Given the description of an element on the screen output the (x, y) to click on. 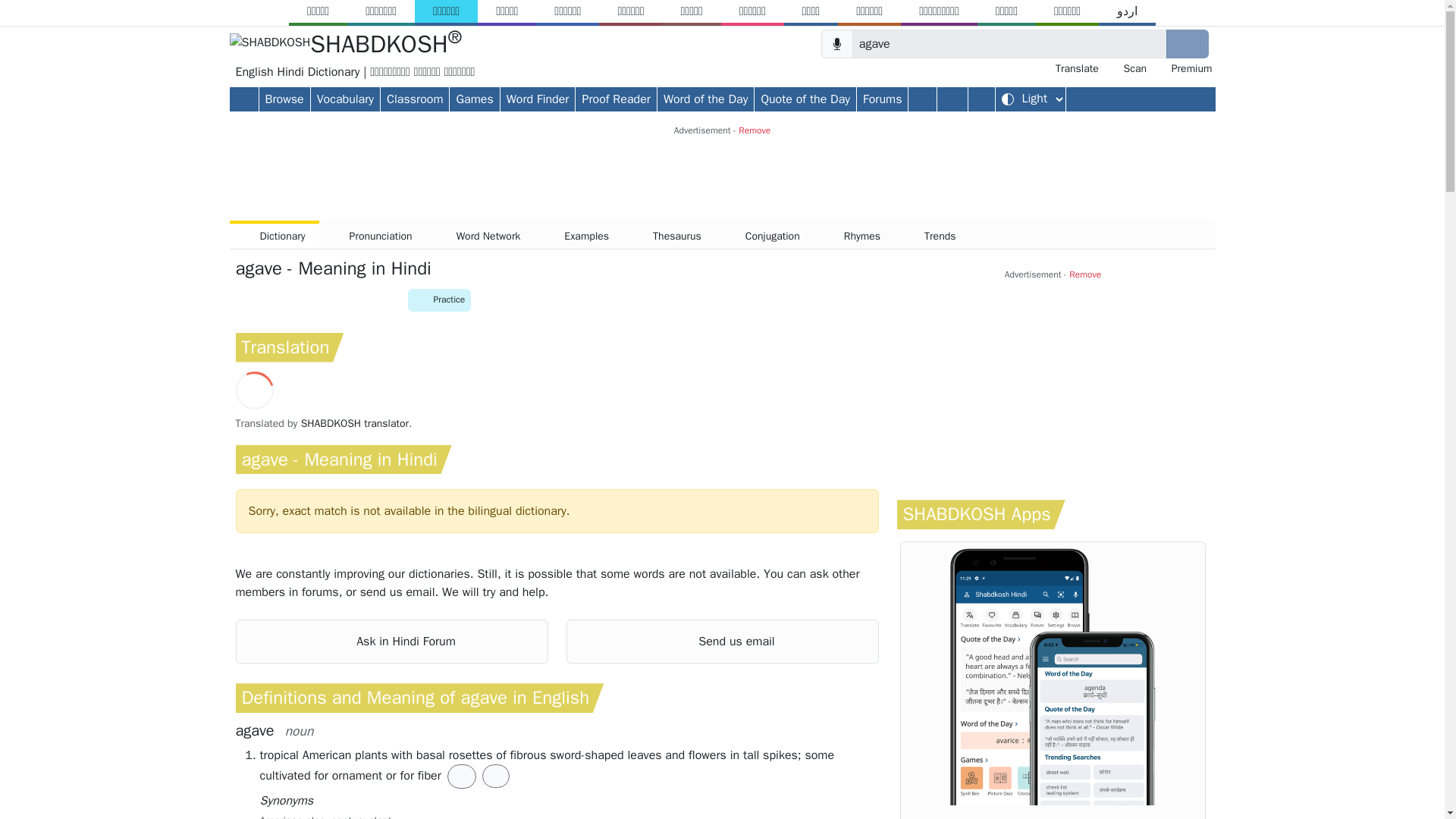
English Punjabi Dictionary (869, 11)
English Marathi Dictionary (690, 11)
English Kannada Dictionary (506, 11)
Quote of the Day (805, 97)
Forums (882, 97)
Games (474, 97)
English Urdu Dictionary (1126, 11)
English Nepali Dictionary (752, 11)
English Hindi Dictionary and Translation (385, 43)
Word of the Day (706, 97)
